Given the description of an element on the screen output the (x, y) to click on. 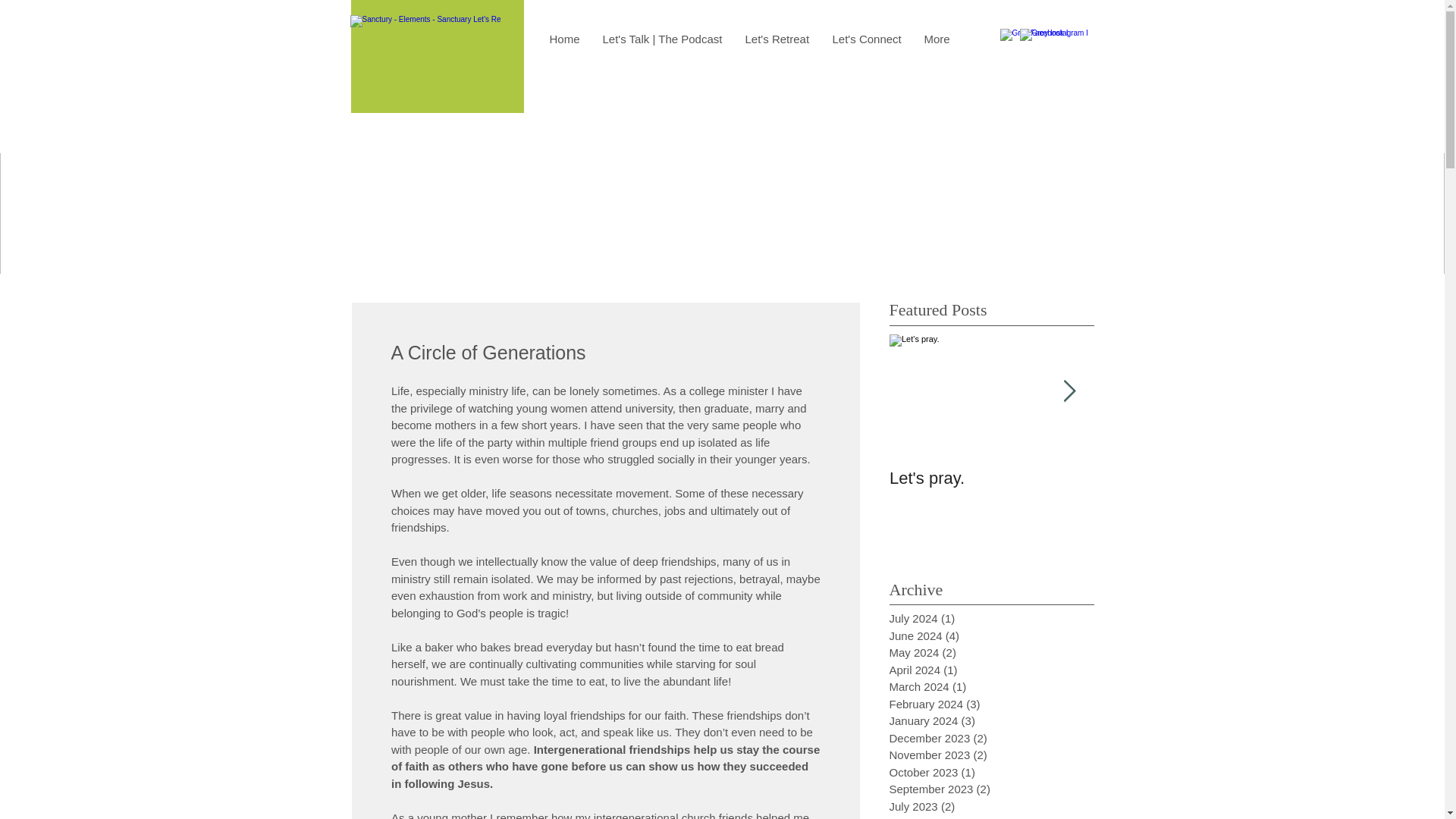
Home (564, 38)
Let's Retreat (777, 38)
The Ticket Off Loneliness Island (1195, 487)
Let's Connect (866, 38)
Let's pray. (990, 478)
Sanctuary (264, 30)
